Given the description of an element on the screen output the (x, y) to click on. 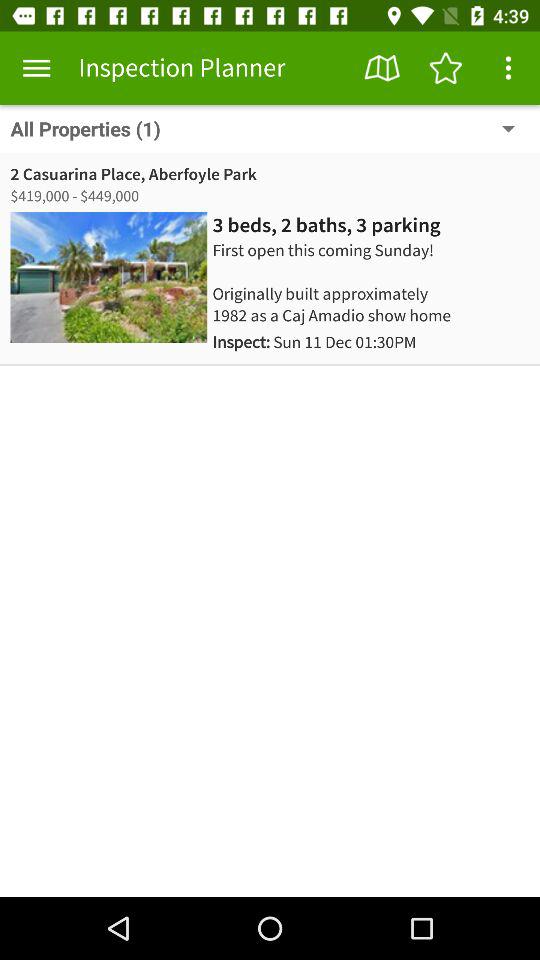
select first open this icon (343, 282)
